Given the description of an element on the screen output the (x, y) to click on. 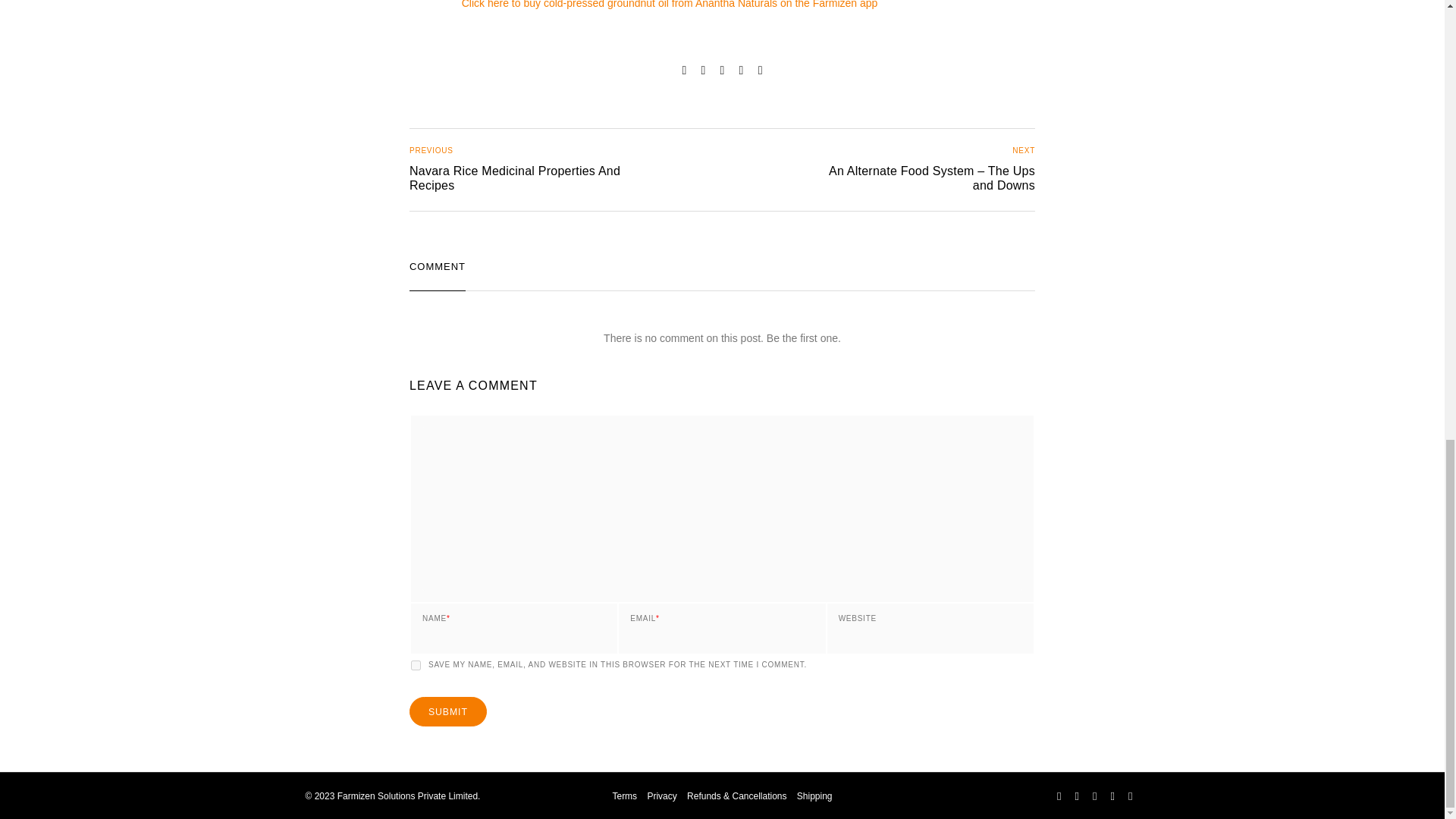
yes (500, 169)
Submit (415, 665)
Submit (447, 711)
